Given the description of an element on the screen output the (x, y) to click on. 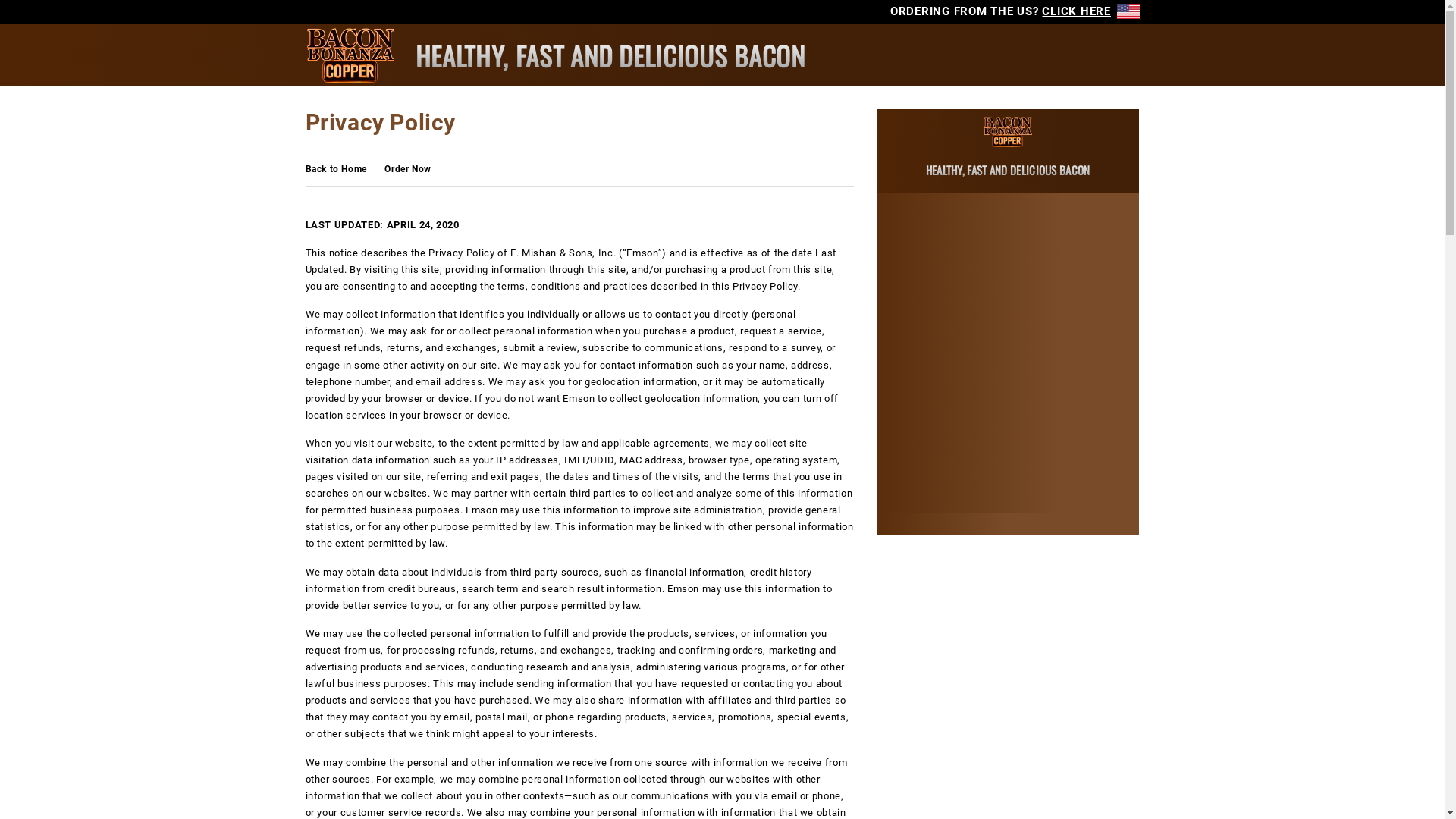
Order Now Element type: text (407, 168)
Back to Home Element type: text (335, 168)
ORDERING FROM THE US? CLICK HERE Element type: text (1014, 11)
